Given the description of an element on the screen output the (x, y) to click on. 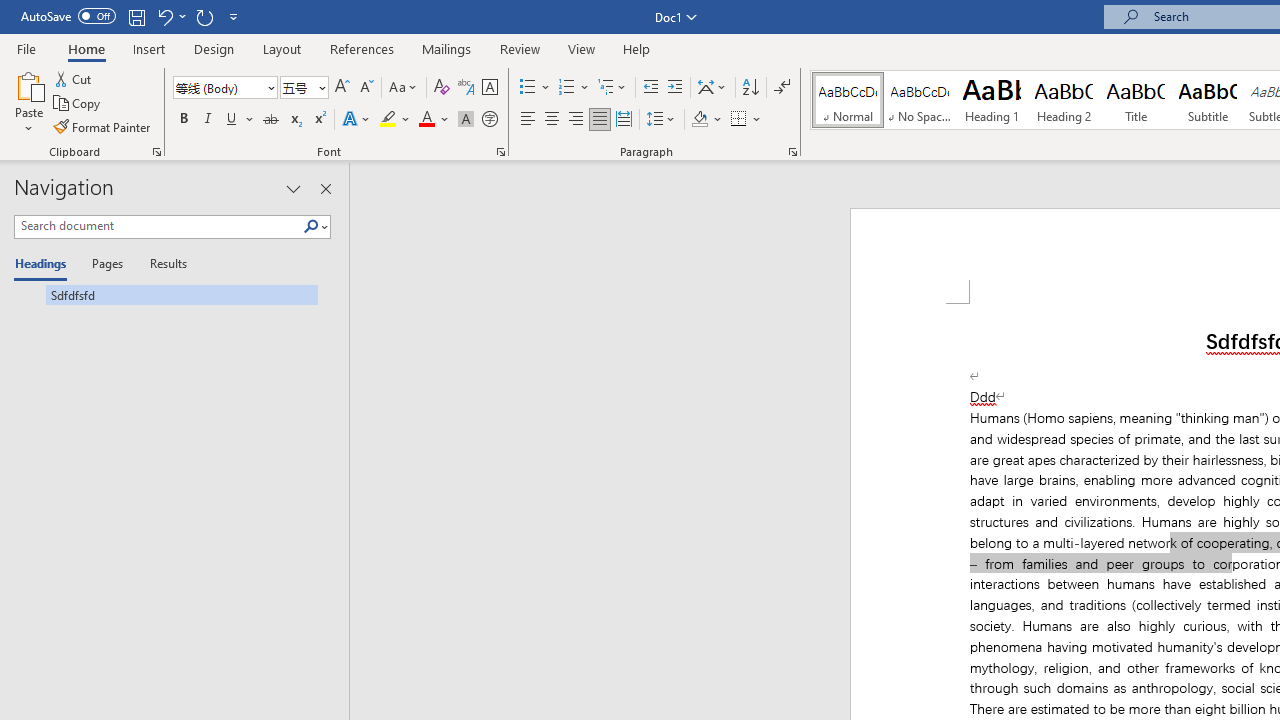
Bold (183, 119)
Shading RGB(0, 0, 0) (699, 119)
View (582, 48)
Cut (73, 78)
AutoSave (68, 16)
Multilevel List (613, 87)
Character Shading (465, 119)
Font Size (304, 87)
File Tab (26, 48)
Undo  (170, 15)
Paragraph... (792, 151)
Subscript (294, 119)
Change Case (404, 87)
Italic (207, 119)
